Given the description of an element on the screen output the (x, y) to click on. 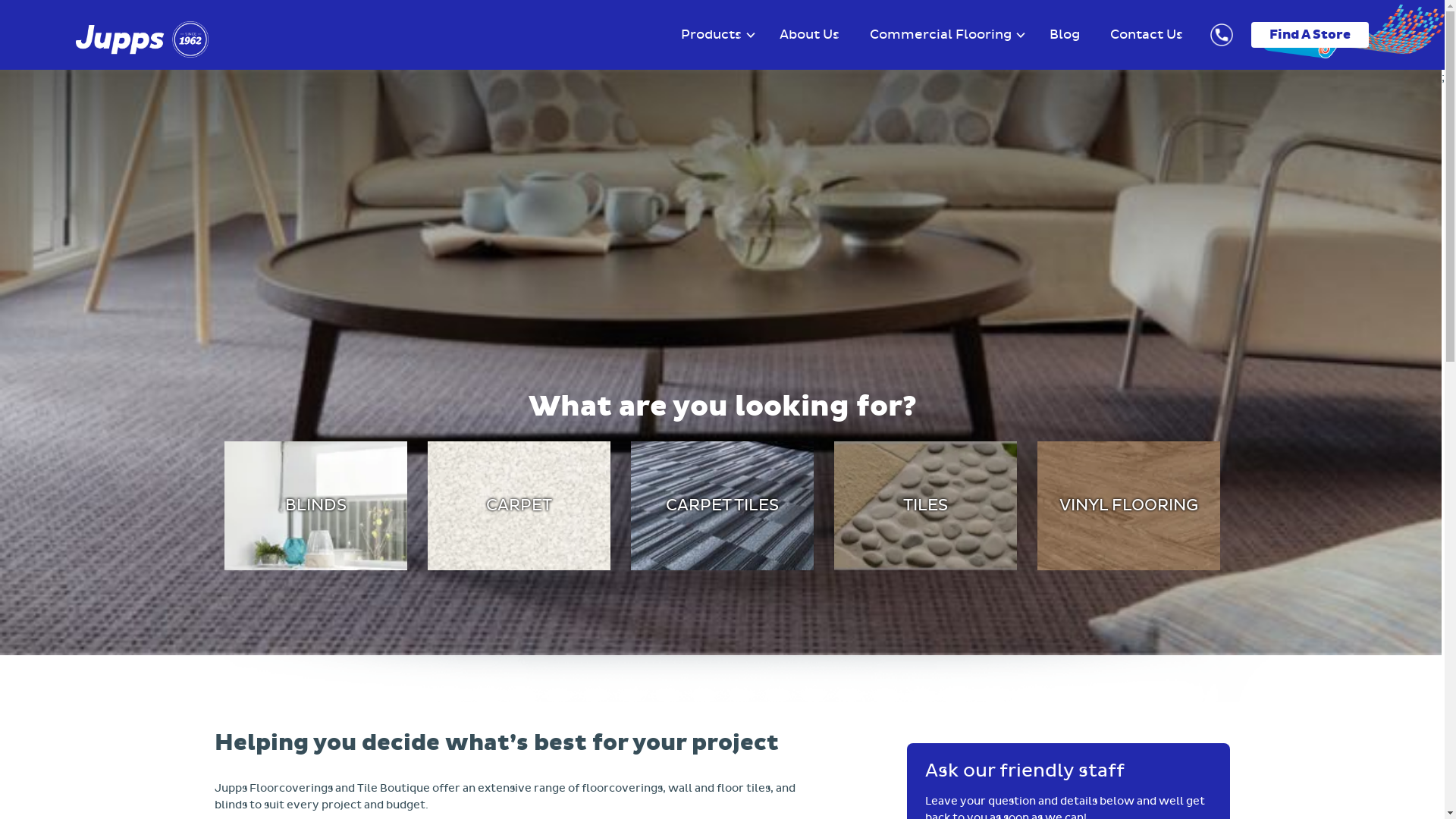
CARPET TILES Element type: text (721, 505)
Find A Store Element type: text (1309, 34)
BLINDS Element type: text (315, 505)
Products Element type: text (710, 34)
CARPET Element type: text (518, 505)
Contact Us Element type: text (1146, 34)
Commercial Flooring Element type: text (940, 34)
TILES Element type: text (925, 505)
About Us Element type: text (809, 34)
VINYL FLOORING Element type: text (1128, 505)
Blog Element type: text (1064, 34)
